Given the description of an element on the screen output the (x, y) to click on. 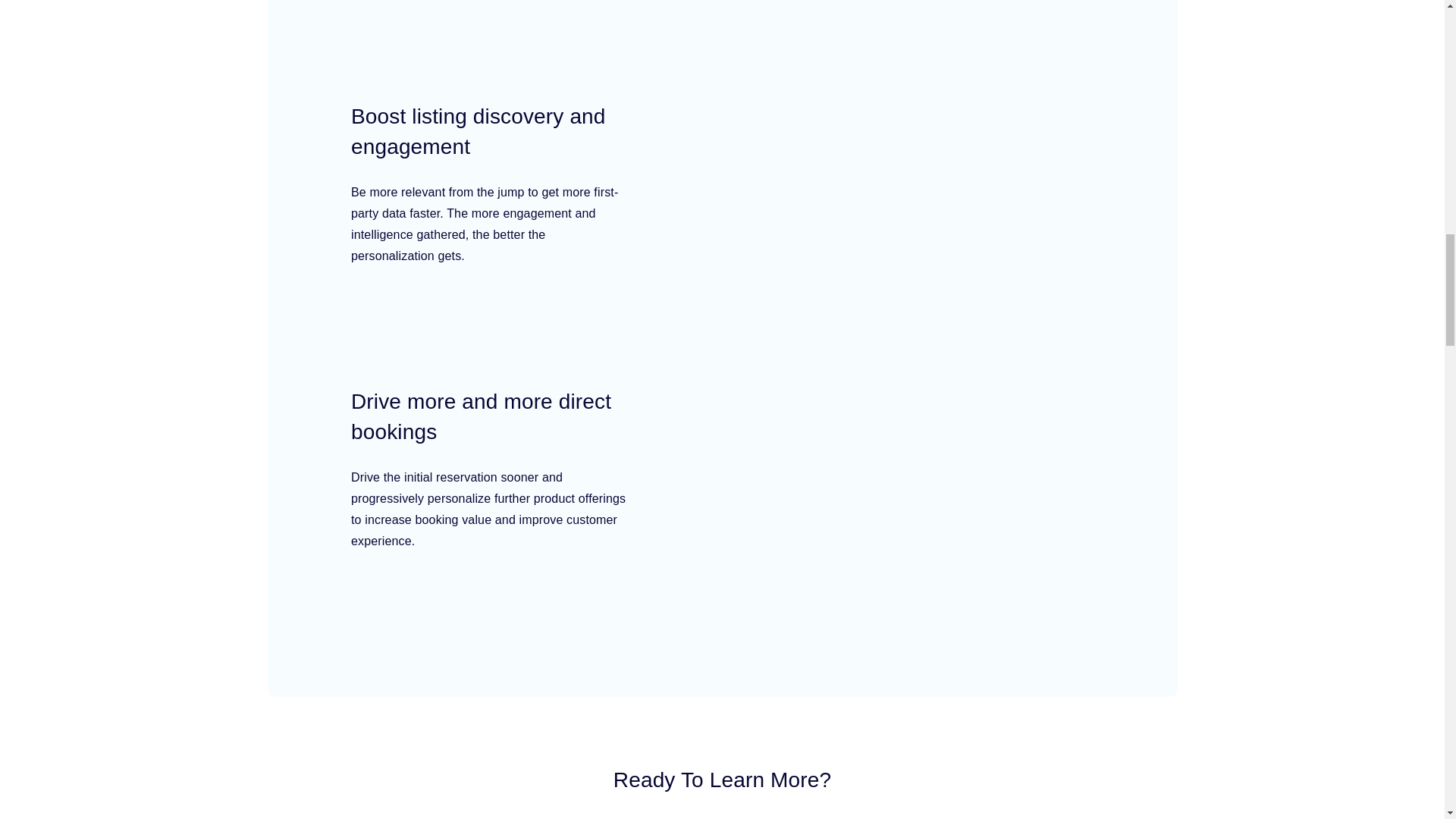
predict intent faster (886, 39)
drive more conversions (890, 522)
